Given the description of an element on the screen output the (x, y) to click on. 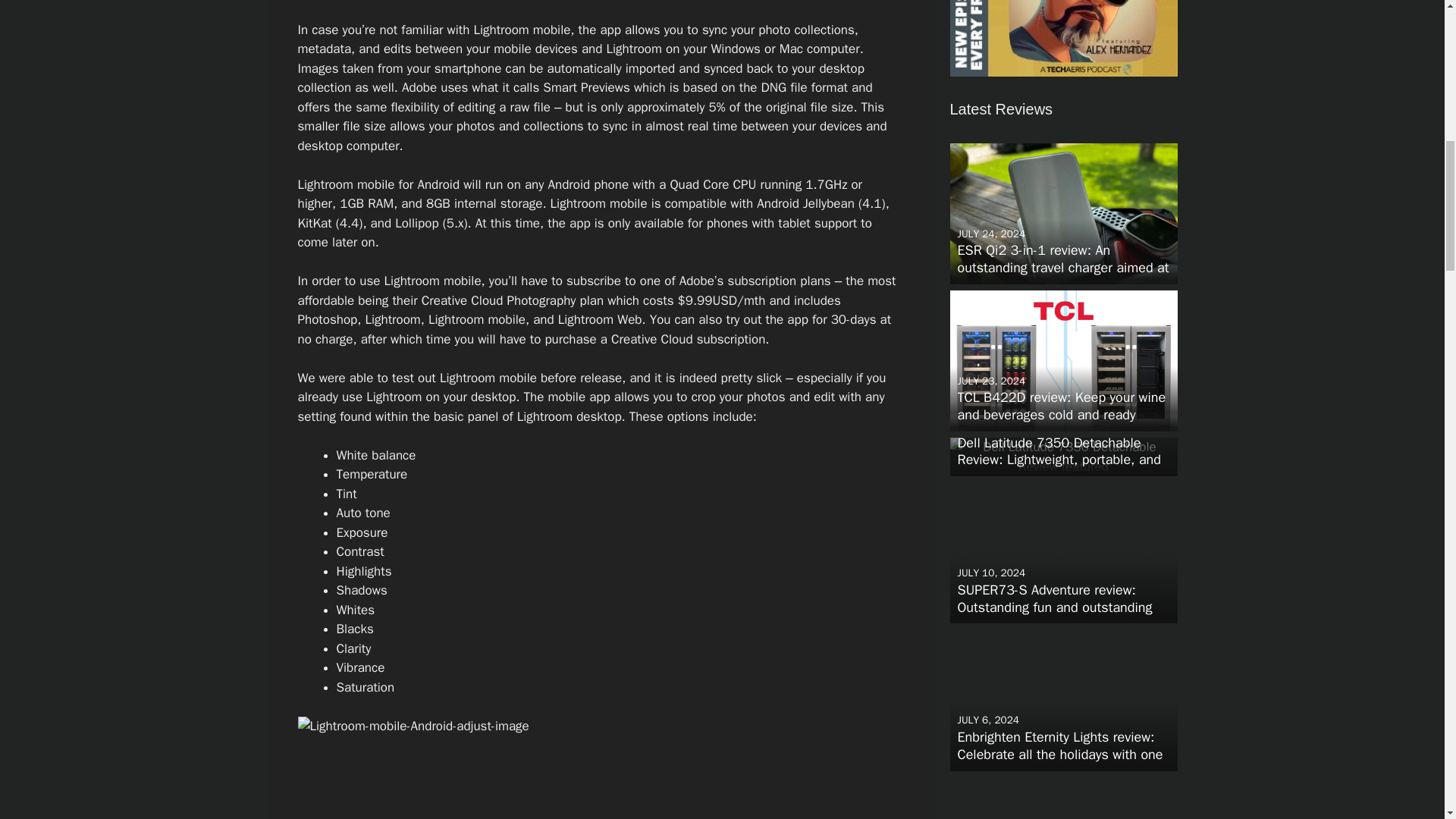
Adobe Launches Lightroom Mobile For Android Phones 1 (600, 767)
